Given the description of an element on the screen output the (x, y) to click on. 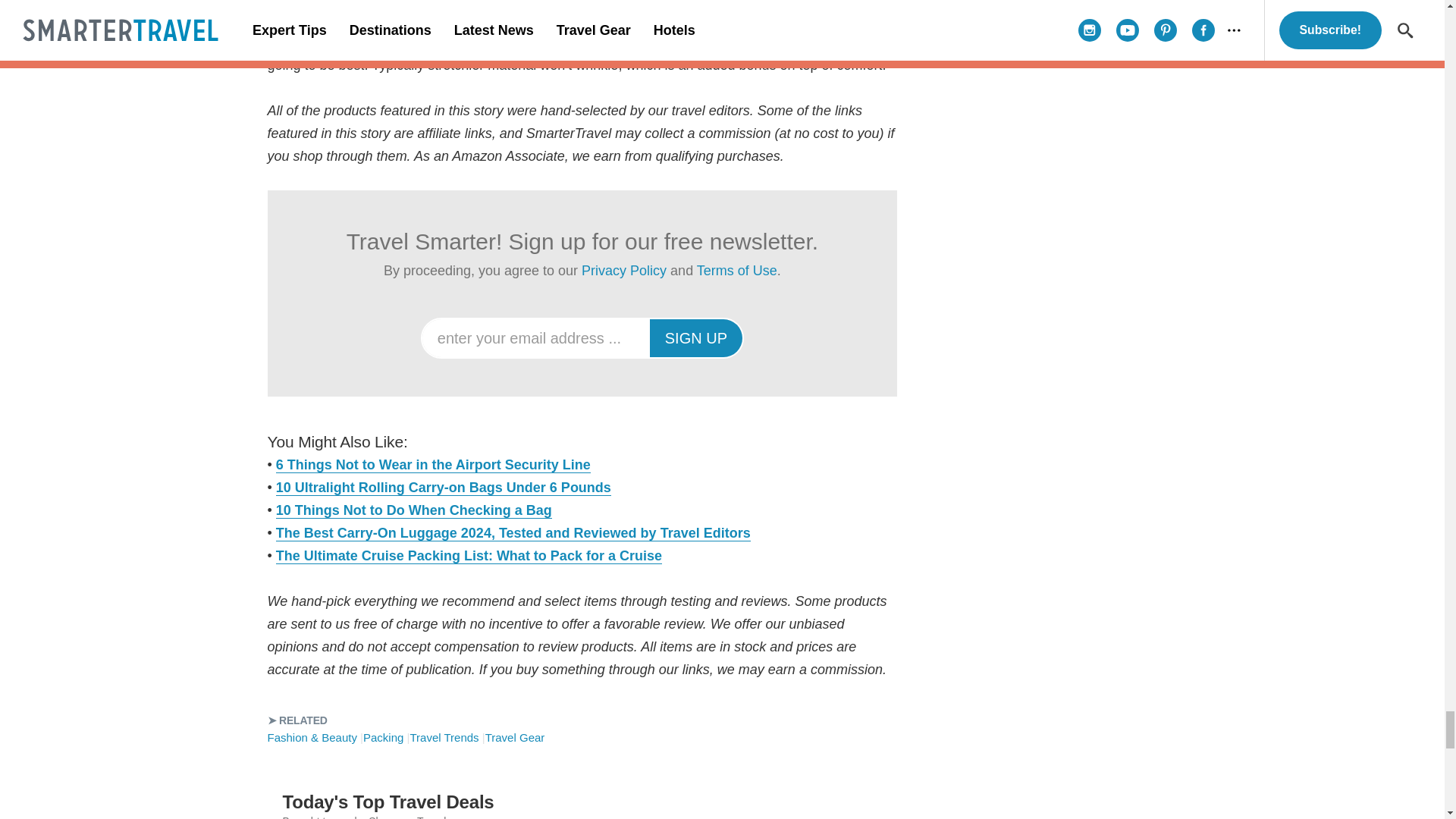
10 Ultralight Rolling Carry-on Bags Under 6 Pounds (443, 487)
The Ultimate Cruise Packing List: What to Pack for a Cruise (469, 555)
10 Things Not to Do When Checking a Bag (413, 509)
6 Things Not to Wear in the Airport Security Line (433, 464)
